Given the description of an element on the screen output the (x, y) to click on. 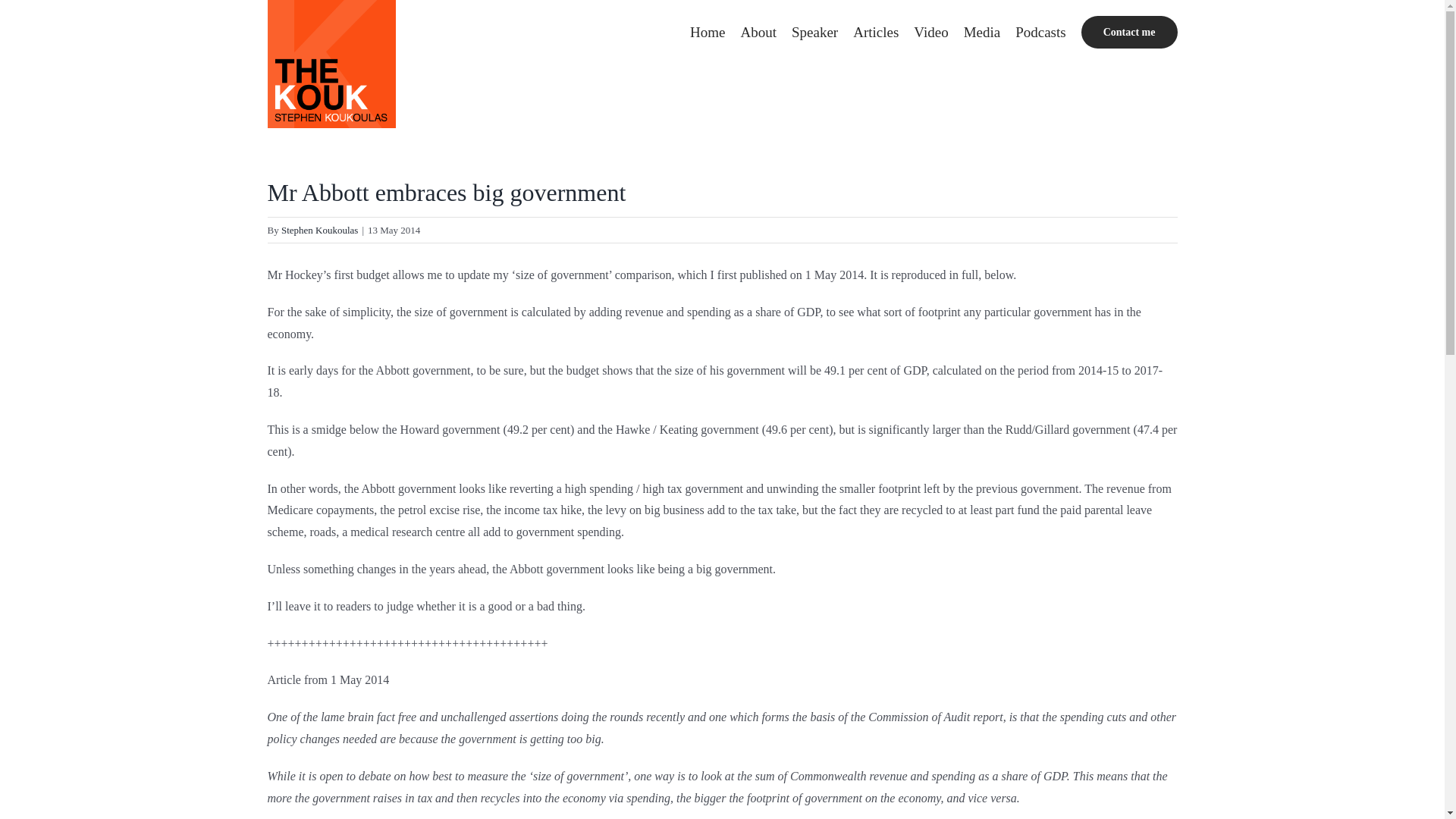
Video (930, 31)
Podcasts (1039, 31)
Articles (875, 31)
Posts by Stephen Koukoulas (319, 229)
About (757, 31)
Speaker (815, 31)
Contact me (1129, 31)
Media (982, 31)
Home (707, 31)
